Given the description of an element on the screen output the (x, y) to click on. 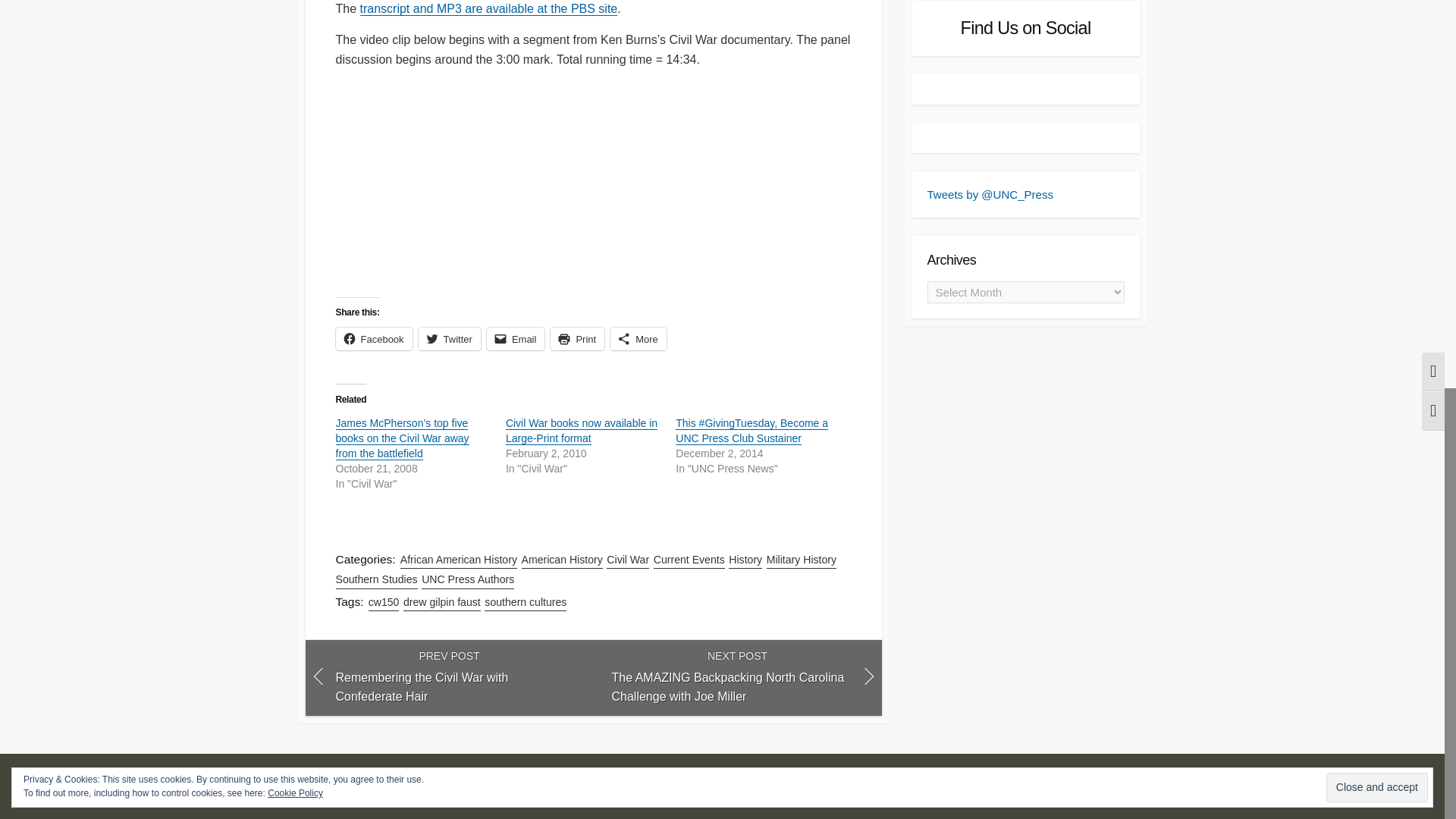
transcript and MP3 are available at the PBS site (488, 8)
Email (515, 338)
YouTube video player (496, 183)
Civil War books now available in Large-Print format (581, 430)
Print (577, 338)
More (638, 338)
Facebook (373, 338)
Click to email a link to a friend (515, 338)
Click to share on Facebook (373, 338)
Twitter (449, 338)
Click to share on Twitter (449, 338)
Click to print (577, 338)
Close and accept (1377, 48)
